Given the description of an element on the screen output the (x, y) to click on. 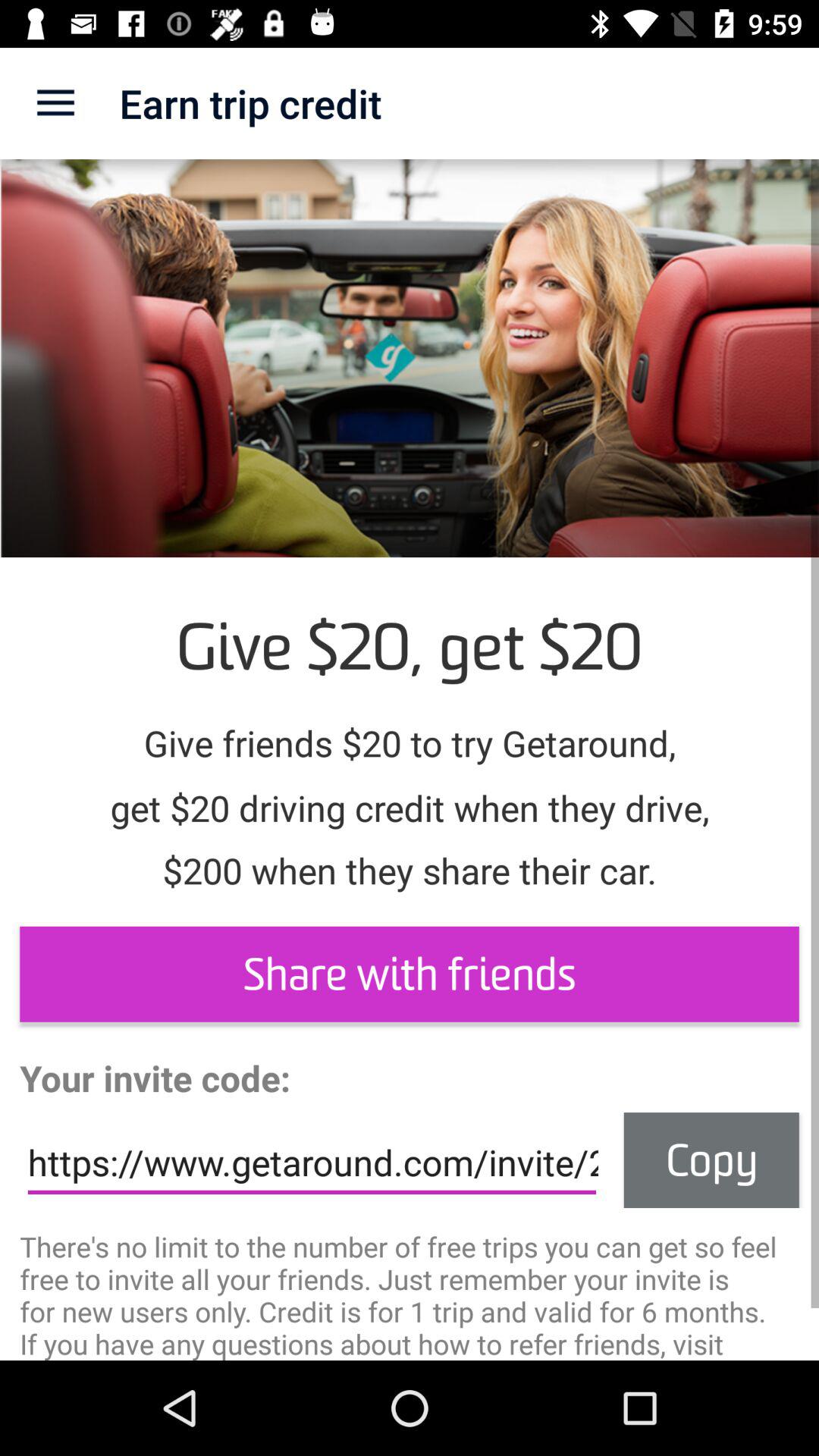
swipe to the https www getaround (311, 1163)
